Given the description of an element on the screen output the (x, y) to click on. 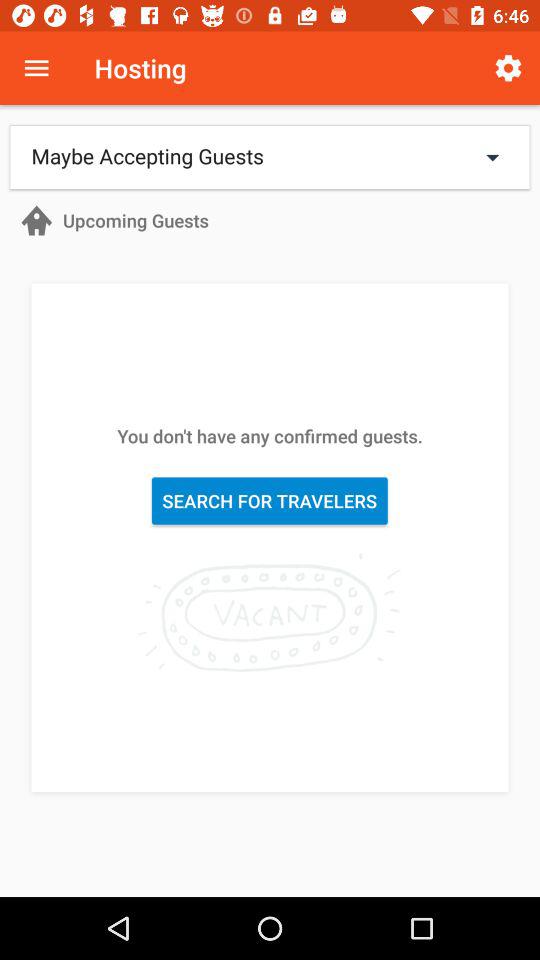
launch item above the maybe accepting guests icon (508, 67)
